Given the description of an element on the screen output the (x, y) to click on. 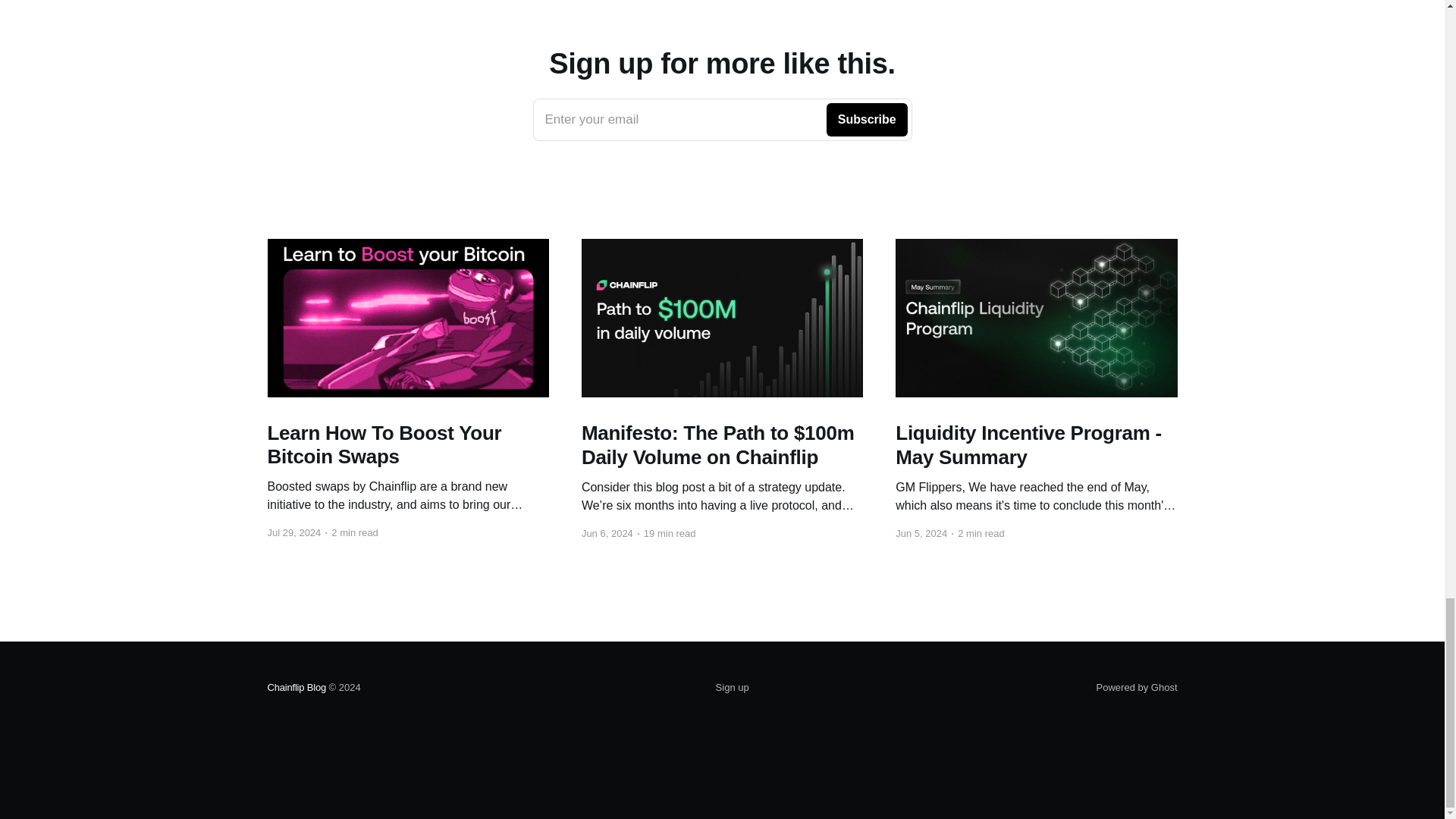
Powered by Ghost (1136, 686)
Chainflip Blog (721, 119)
Sign up (296, 686)
